Given the description of an element on the screen output the (x, y) to click on. 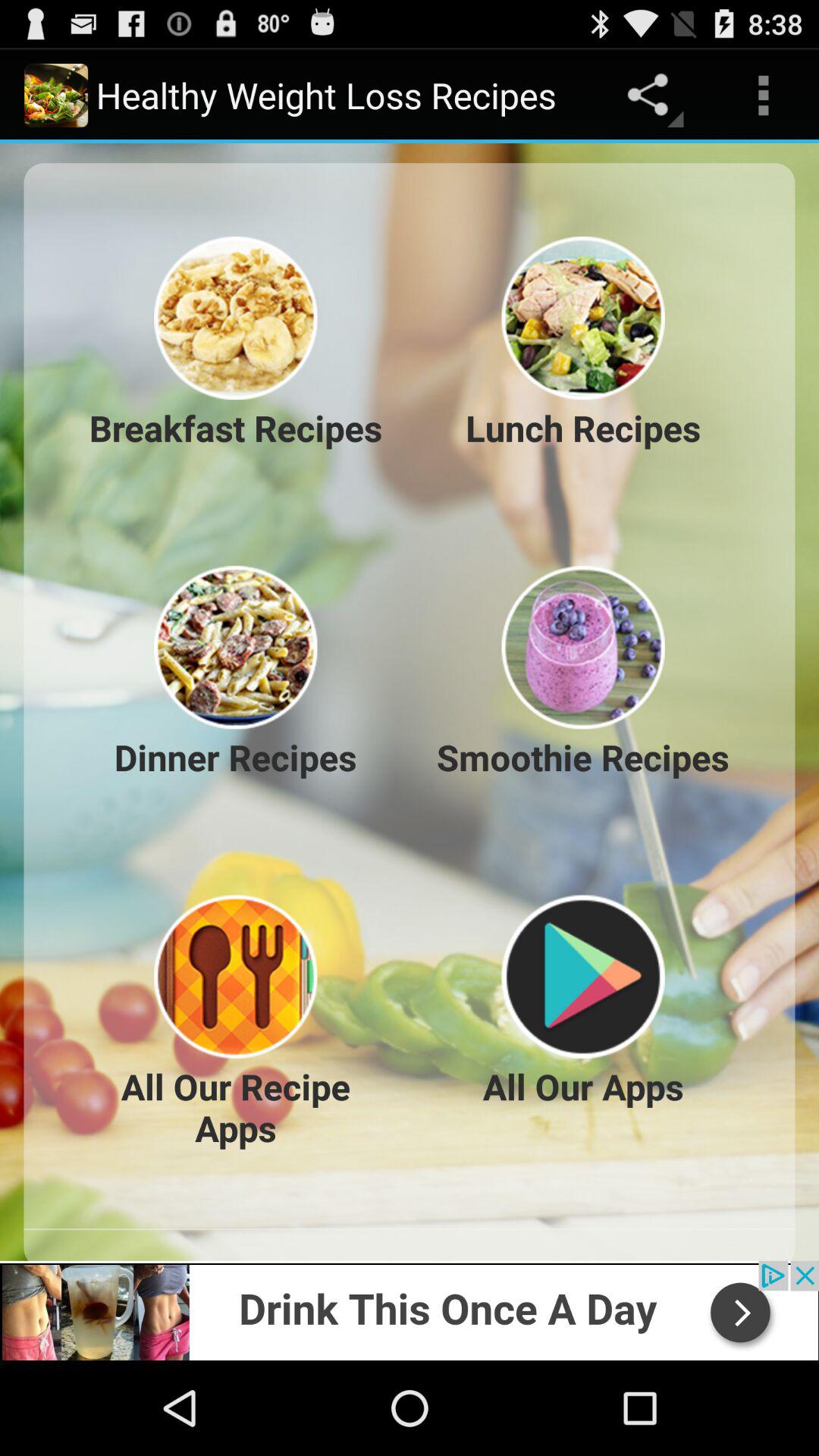
go to advertiser site (409, 1310)
